Given the description of an element on the screen output the (x, y) to click on. 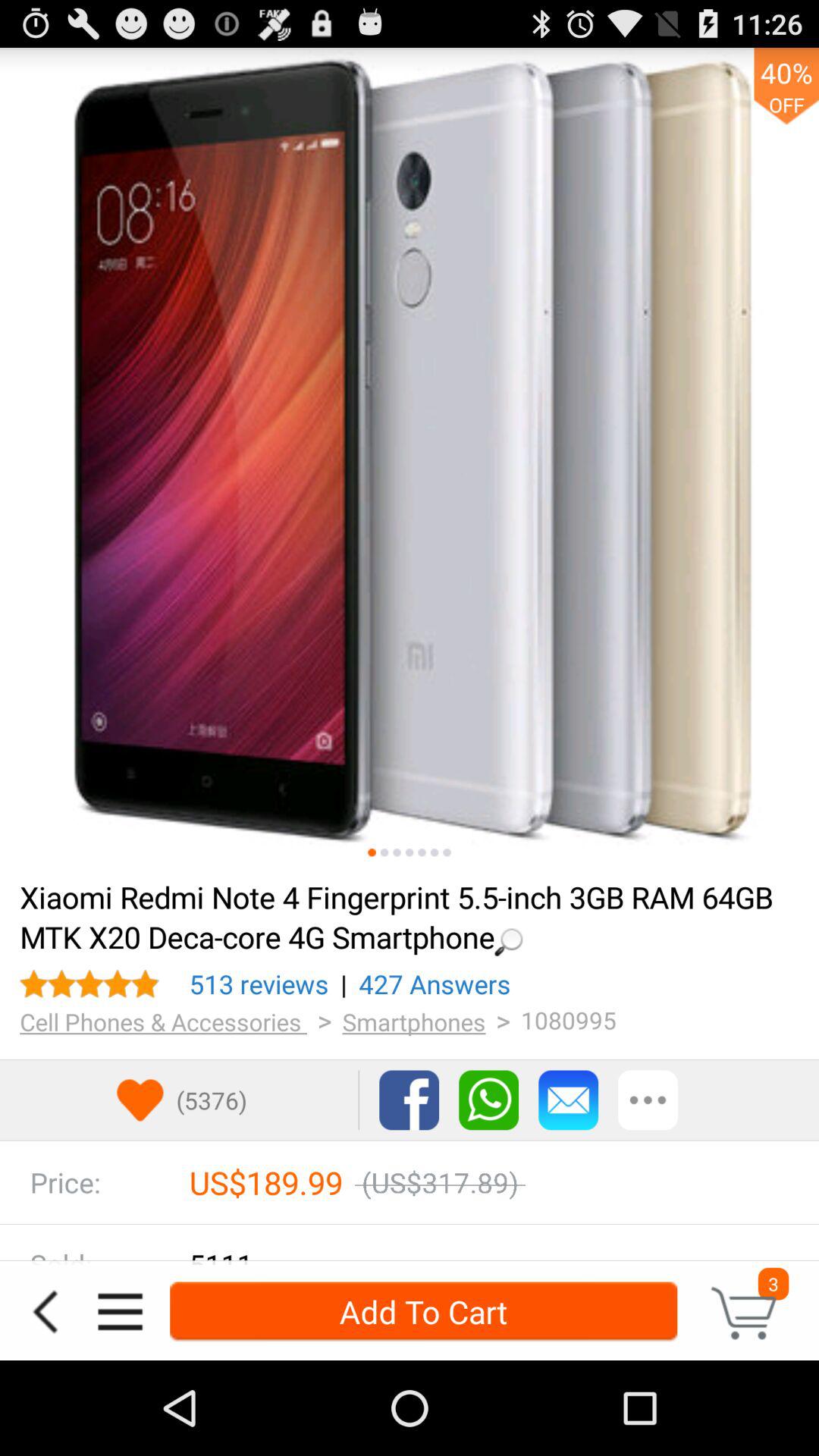
option menu (120, 1311)
